Given the description of an element on the screen output the (x, y) to click on. 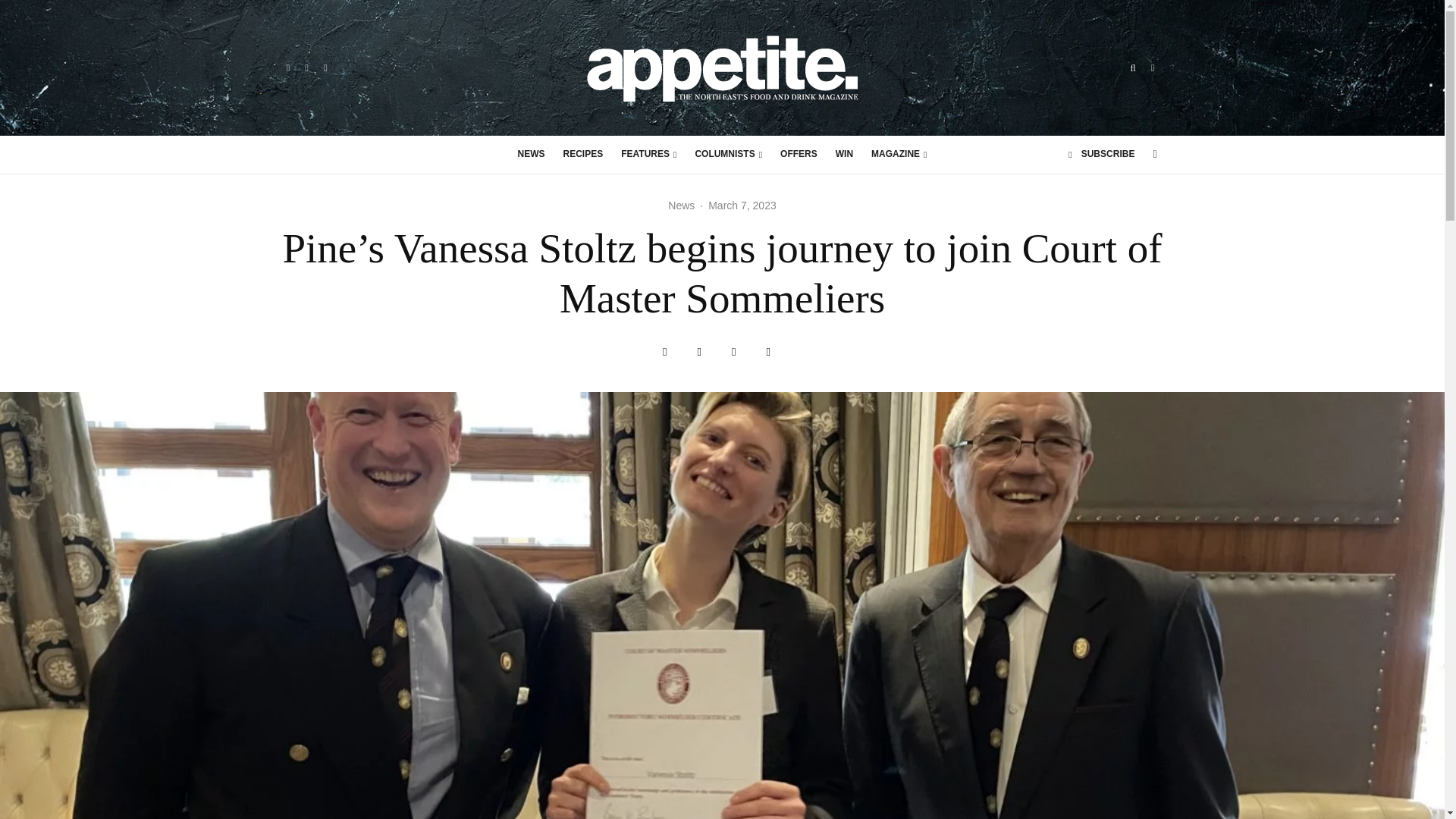
NEWS (531, 154)
FEATURES (648, 154)
RECIPES (583, 154)
